Given the description of an element on the screen output the (x, y) to click on. 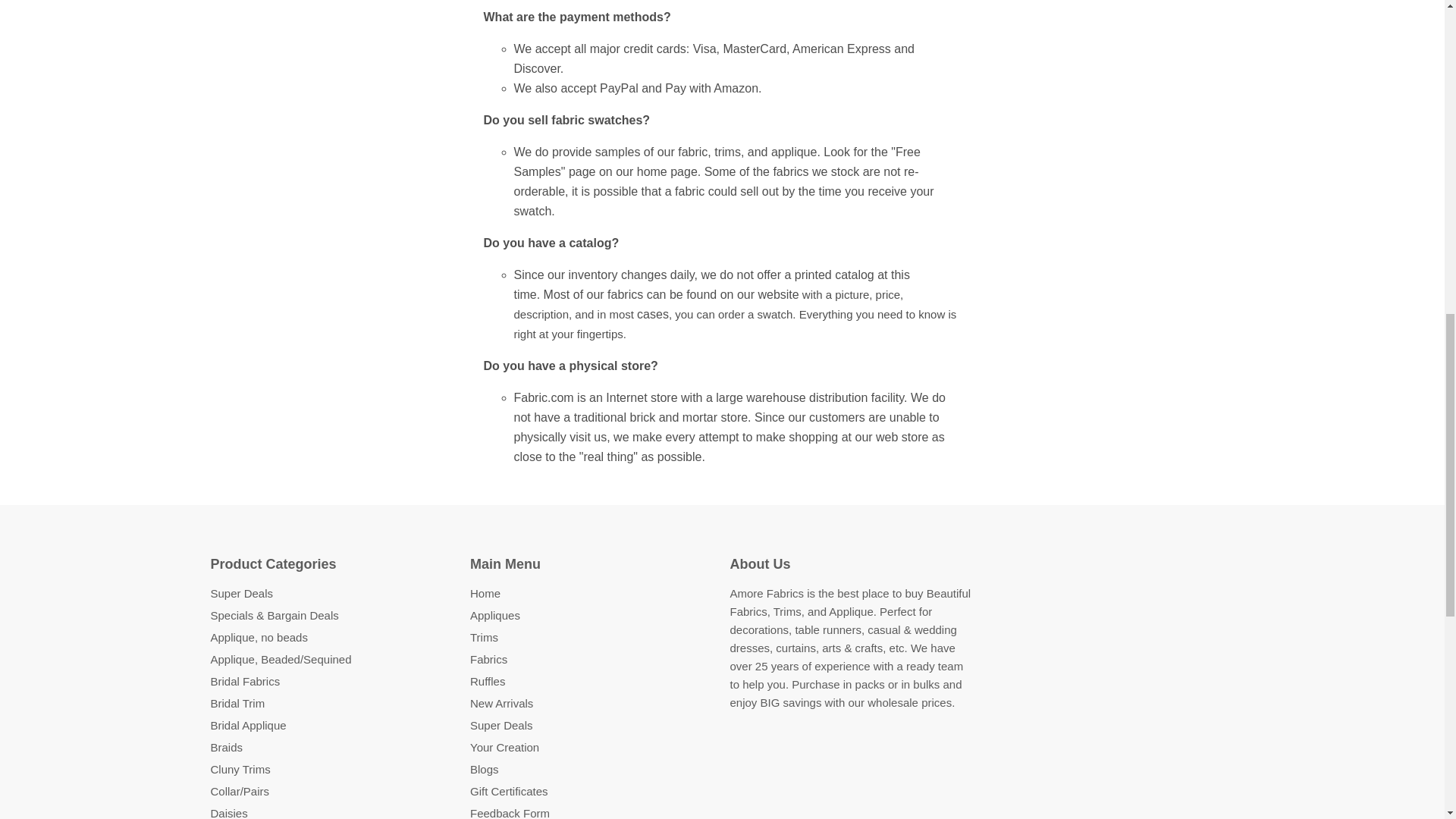
Bridal Applique (248, 725)
Cluny Trims (240, 768)
Braids (227, 747)
Bridal Fabrics (246, 680)
Bridal Trim (237, 703)
Daisies (229, 812)
Applique, no beads (259, 636)
Super Deals (242, 593)
